Given the description of an element on the screen output the (x, y) to click on. 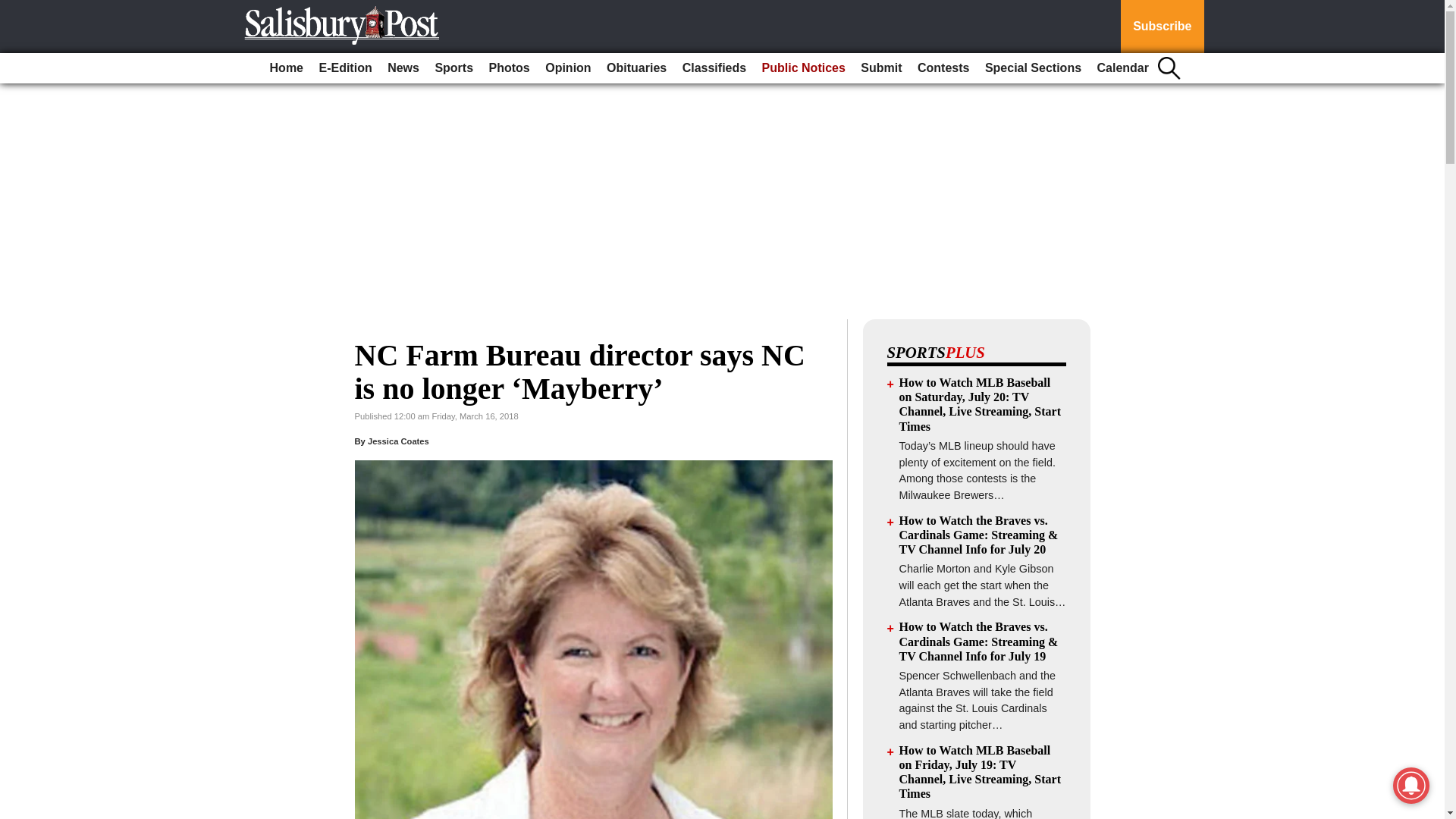
Contests (943, 68)
Obituaries (635, 68)
Public Notices (803, 68)
Home (285, 68)
Classifieds (714, 68)
E-Edition (345, 68)
Photos (509, 68)
Submit (880, 68)
Sports (453, 68)
Special Sections (1032, 68)
Subscribe (1162, 26)
